Given the description of an element on the screen output the (x, y) to click on. 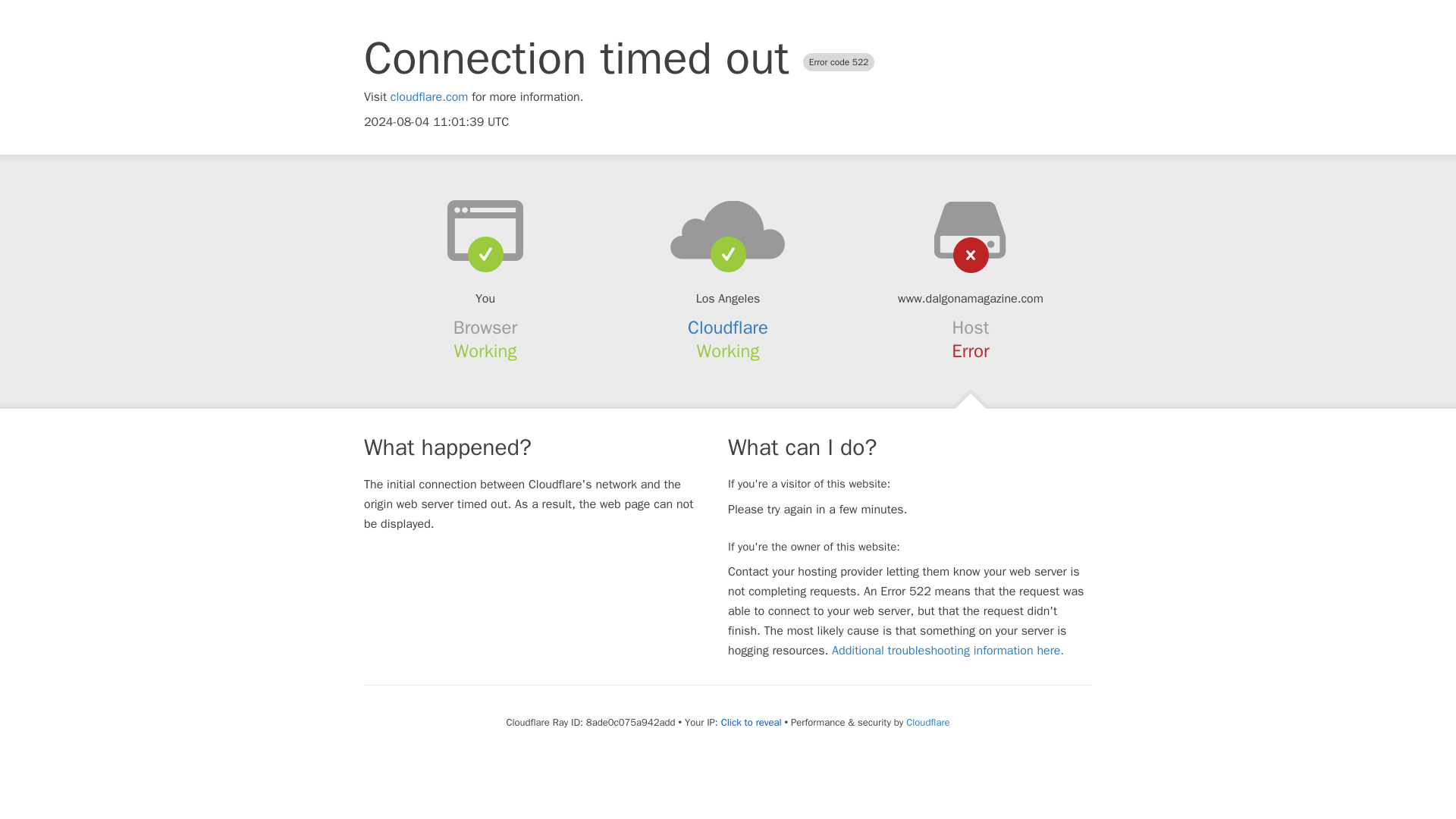
Cloudflare (927, 721)
cloudflare.com (429, 96)
Click to reveal (750, 722)
Additional troubleshooting information here. (947, 650)
Cloudflare (727, 327)
